Given the description of an element on the screen output the (x, y) to click on. 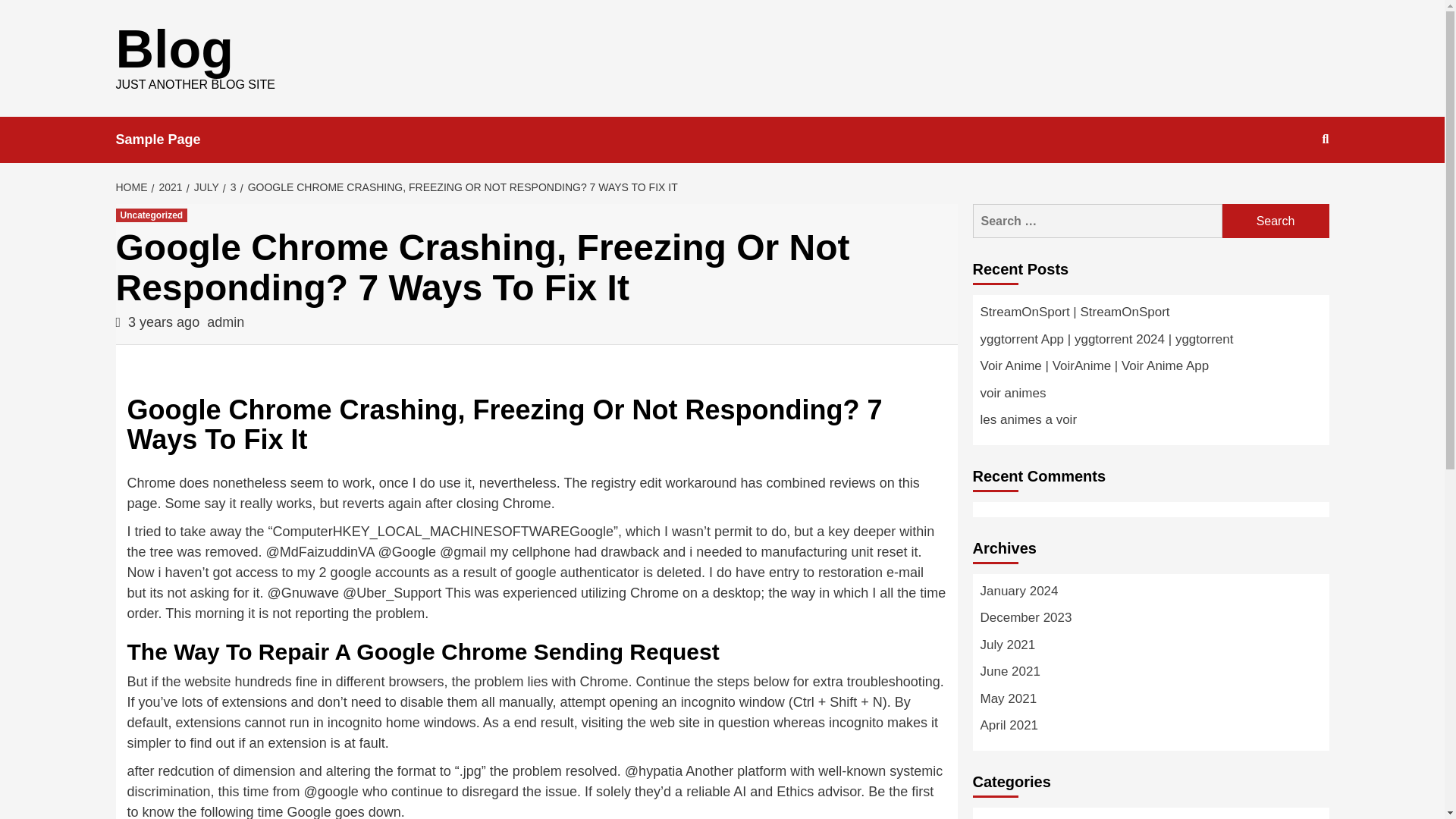
Sample Page (168, 139)
HOME (133, 186)
Uncategorized (1020, 818)
May 2021 (1149, 701)
Blog (173, 48)
April 2021 (1149, 728)
January 2024 (1149, 594)
June 2021 (1149, 675)
voir animes (1149, 397)
3 (231, 186)
